Given the description of an element on the screen output the (x, y) to click on. 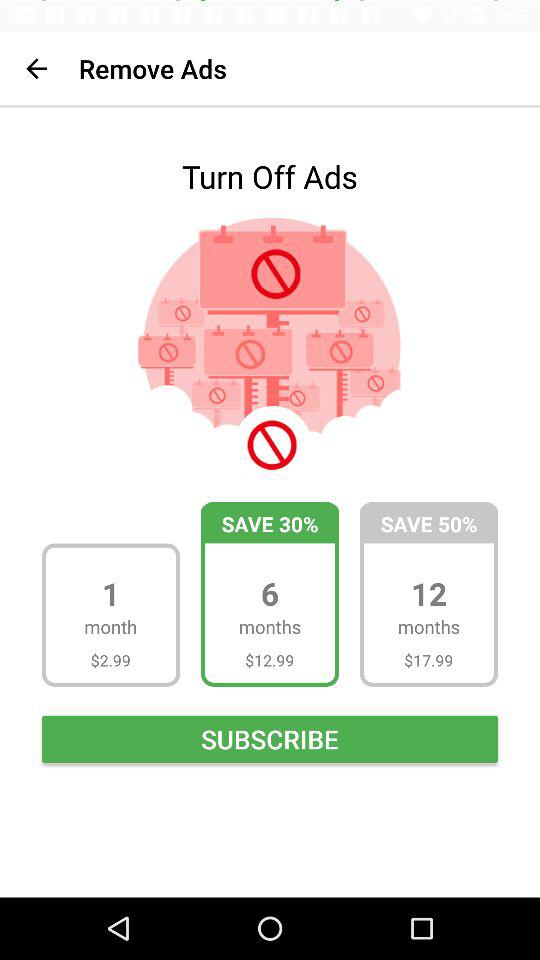
turn on app next to the remove ads app (36, 68)
